Given the description of an element on the screen output the (x, y) to click on. 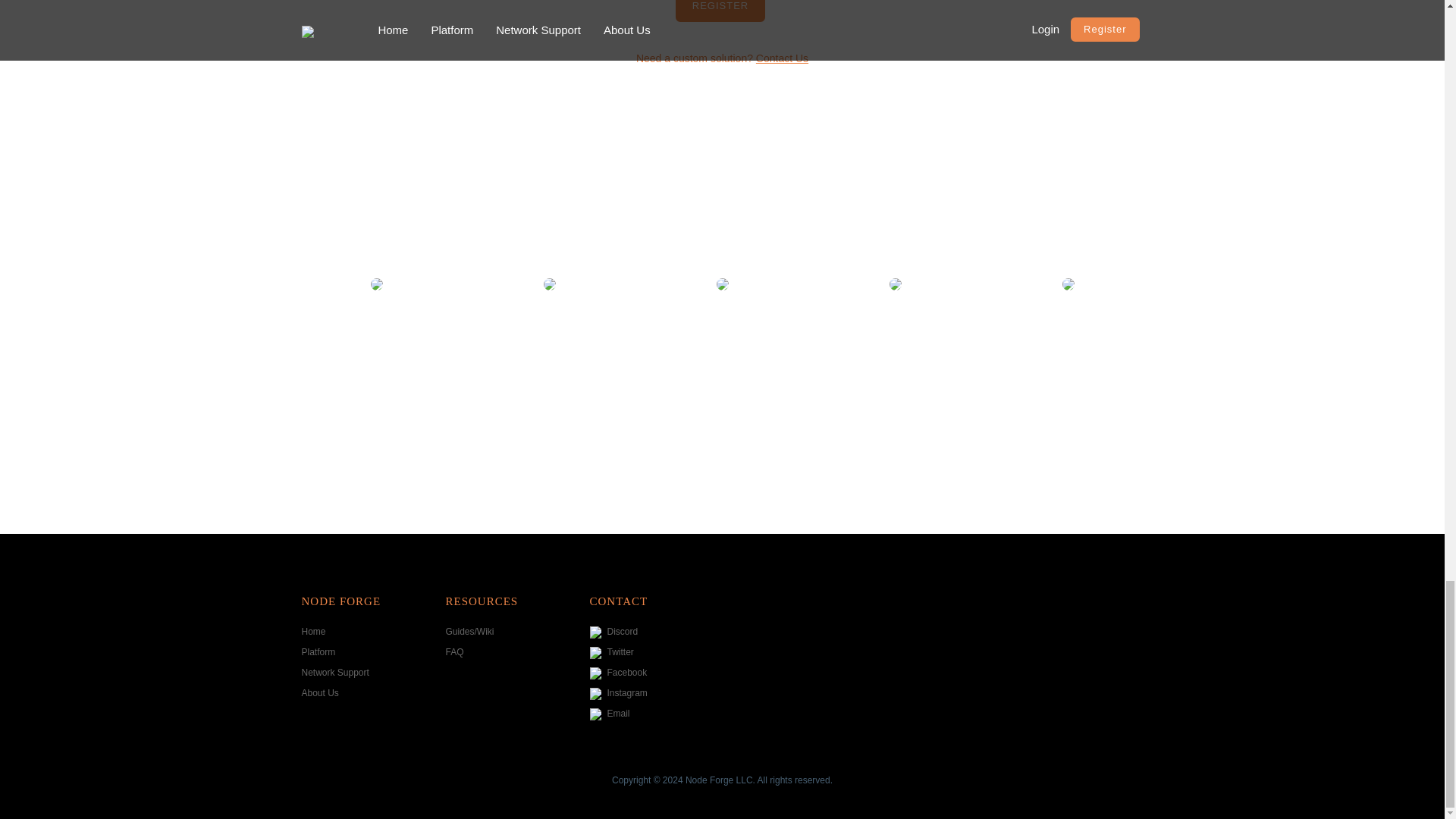
Discord (614, 631)
Twitter (611, 652)
Network Support (335, 672)
About Us (320, 692)
Home (313, 631)
REGISTER (720, 11)
Instagram (618, 692)
Contact Us (781, 58)
Email (609, 713)
Facebook (618, 672)
Platform (318, 652)
FAQ (454, 652)
